Given the description of an element on the screen output the (x, y) to click on. 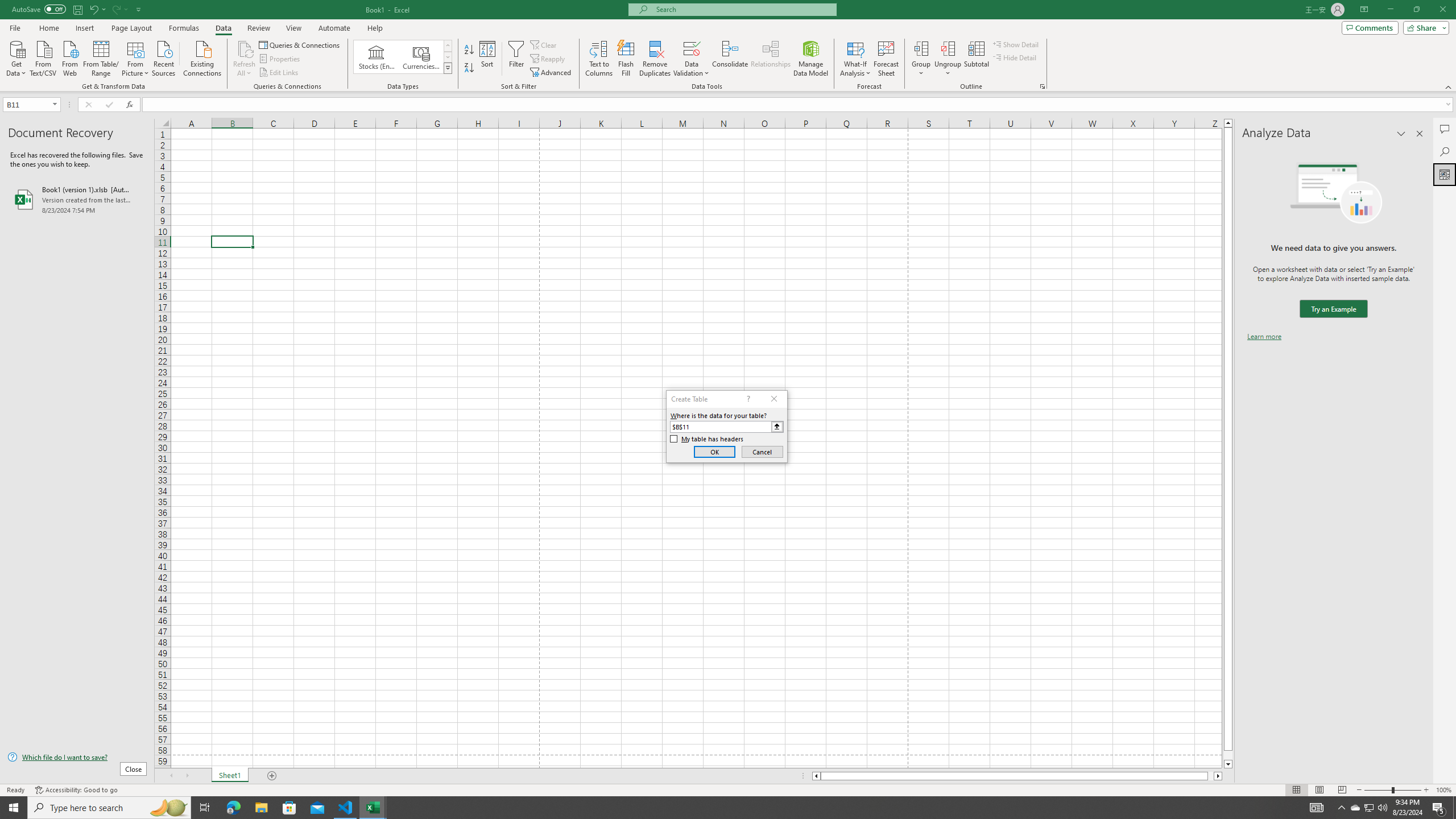
From Web (69, 57)
Search (1444, 151)
